Given the description of an element on the screen output the (x, y) to click on. 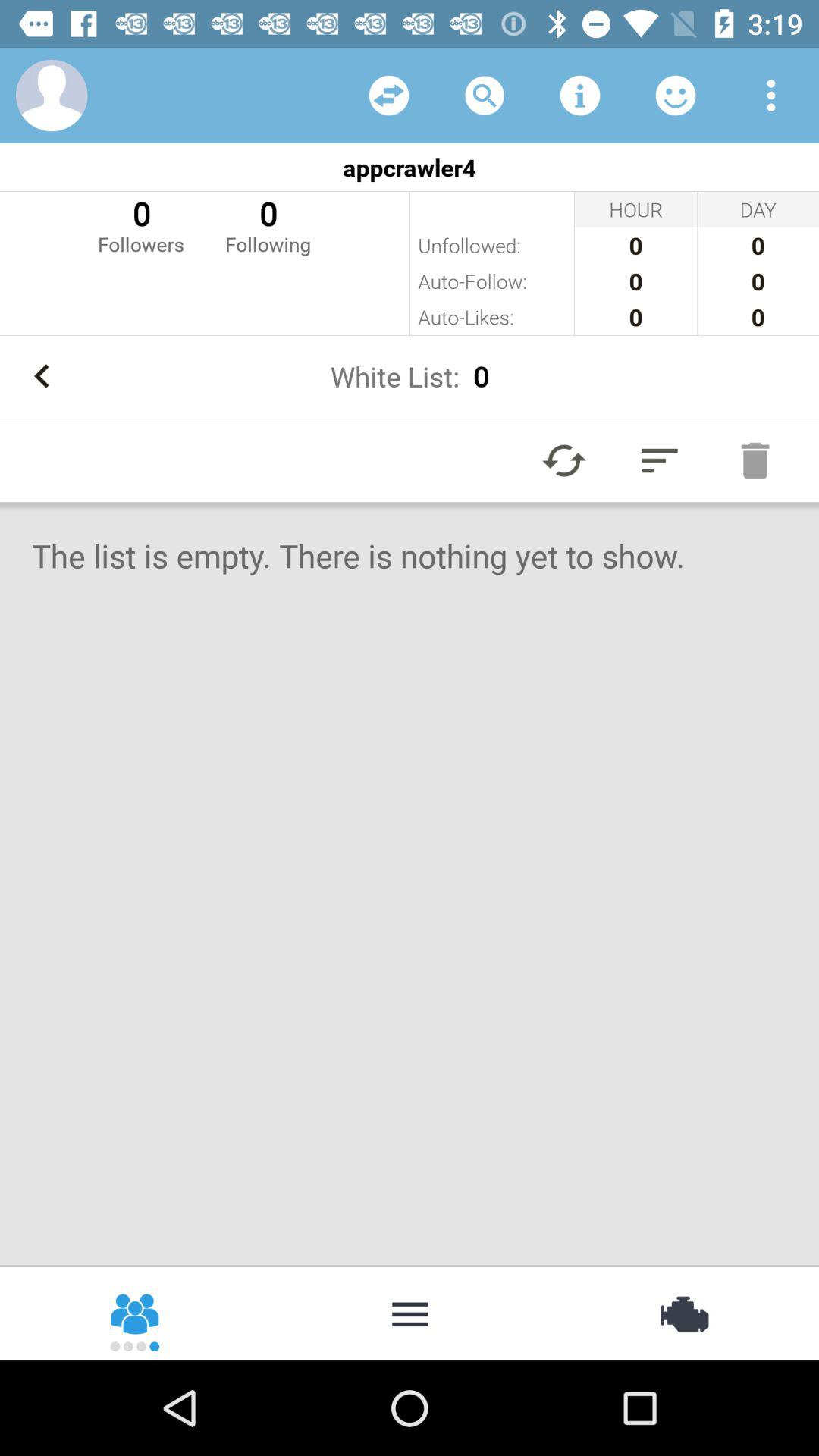
go back (41, 376)
